Given the description of an element on the screen output the (x, y) to click on. 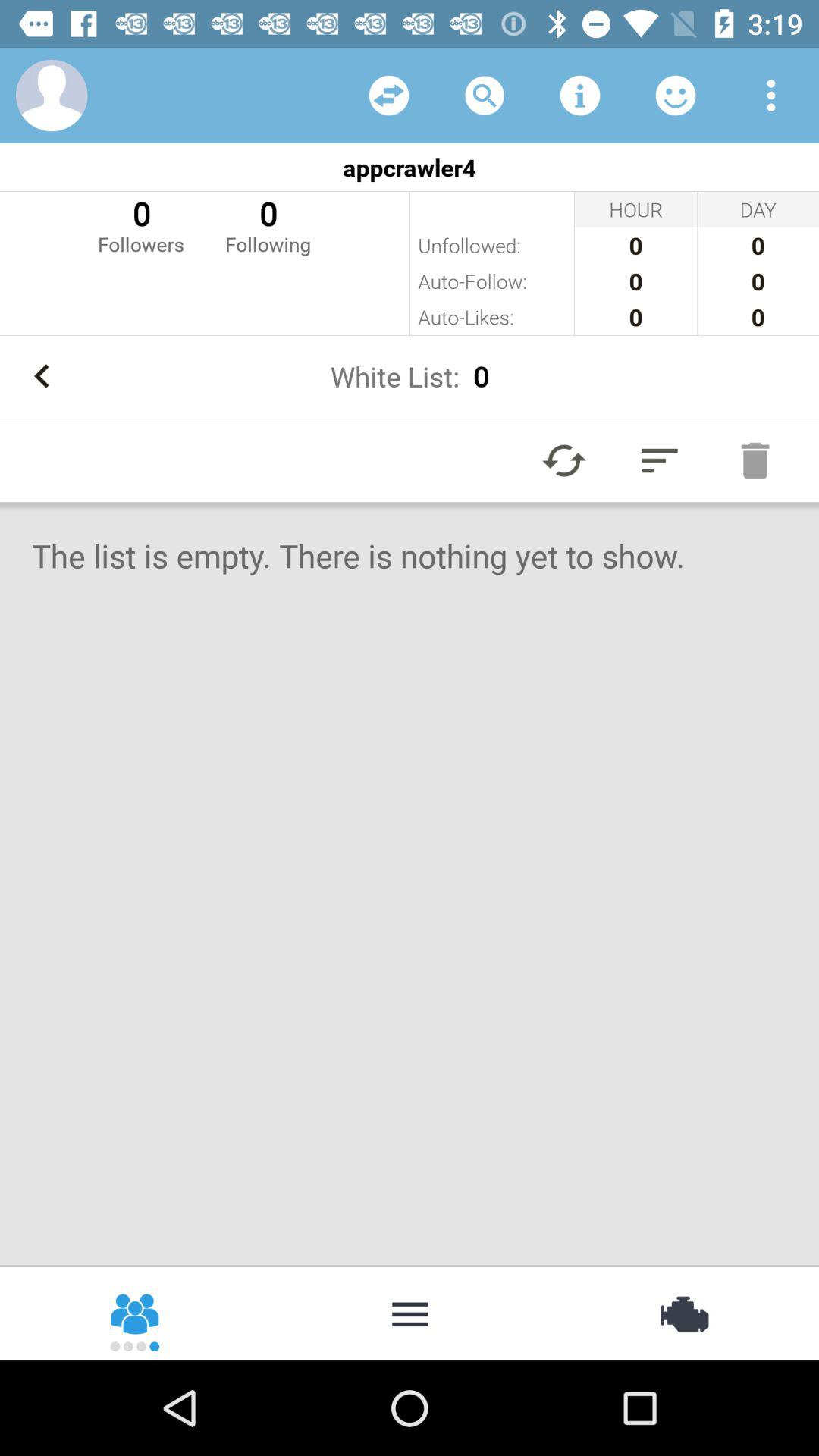
go back (41, 376)
